Given the description of an element on the screen output the (x, y) to click on. 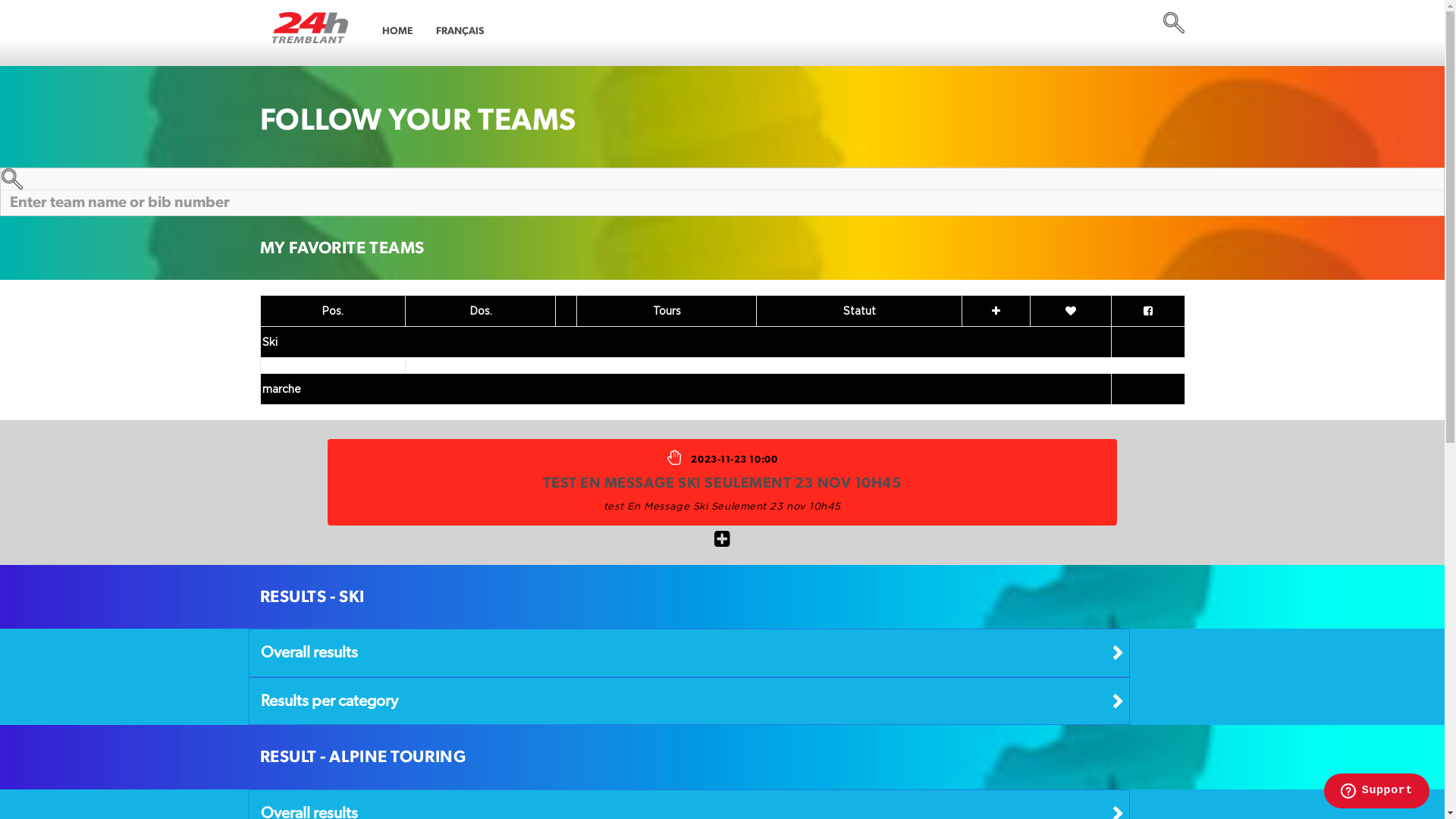
Opens a widget where you can find more information Element type: hover (1376, 792)
2023-11-23 10:00 Element type: text (733, 459)
HOME Element type: text (396, 31)
